Given the description of an element on the screen output the (x, y) to click on. 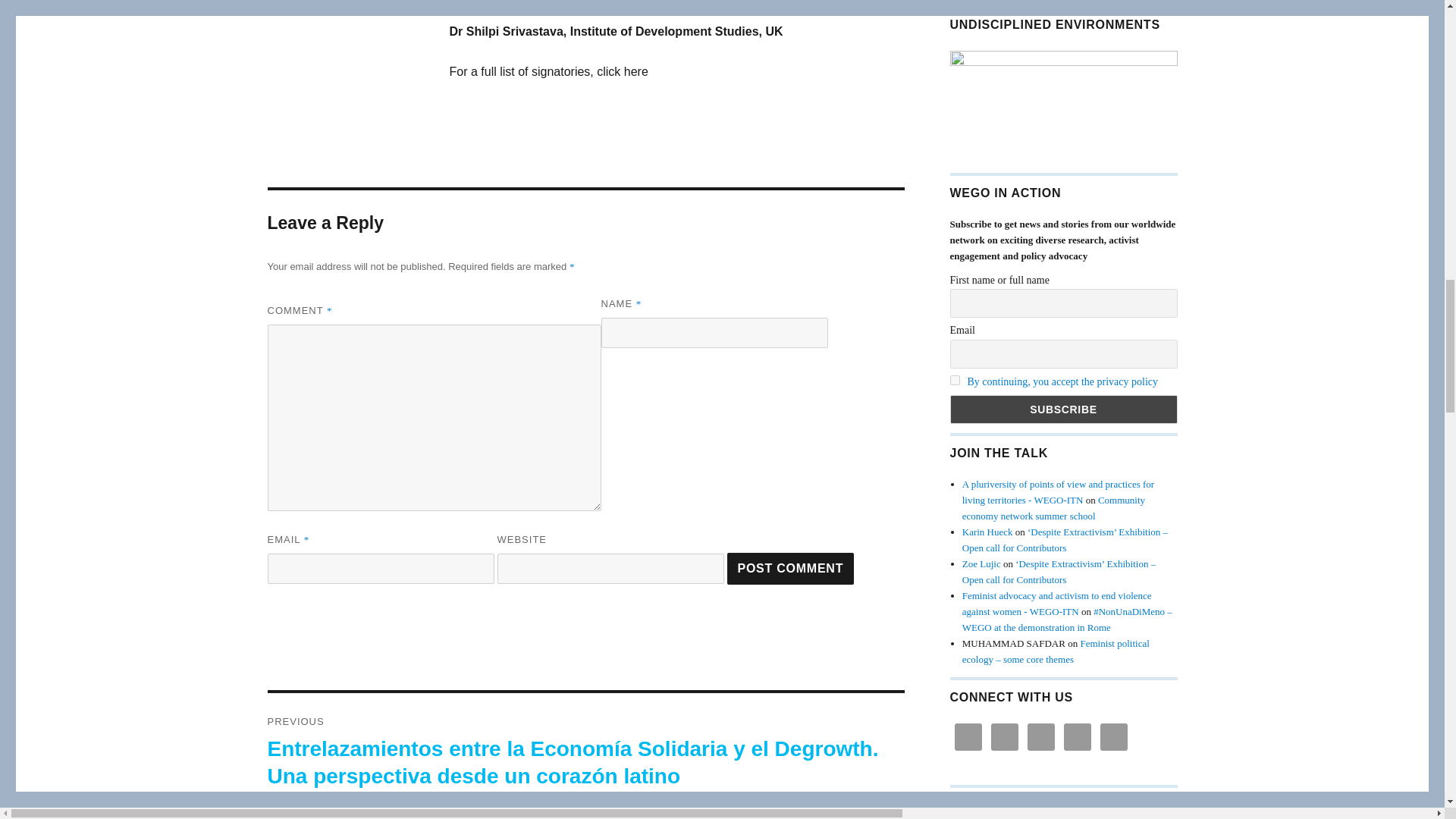
on (954, 379)
Post Comment (789, 567)
Subscribe (1062, 409)
